Given the description of an element on the screen output the (x, y) to click on. 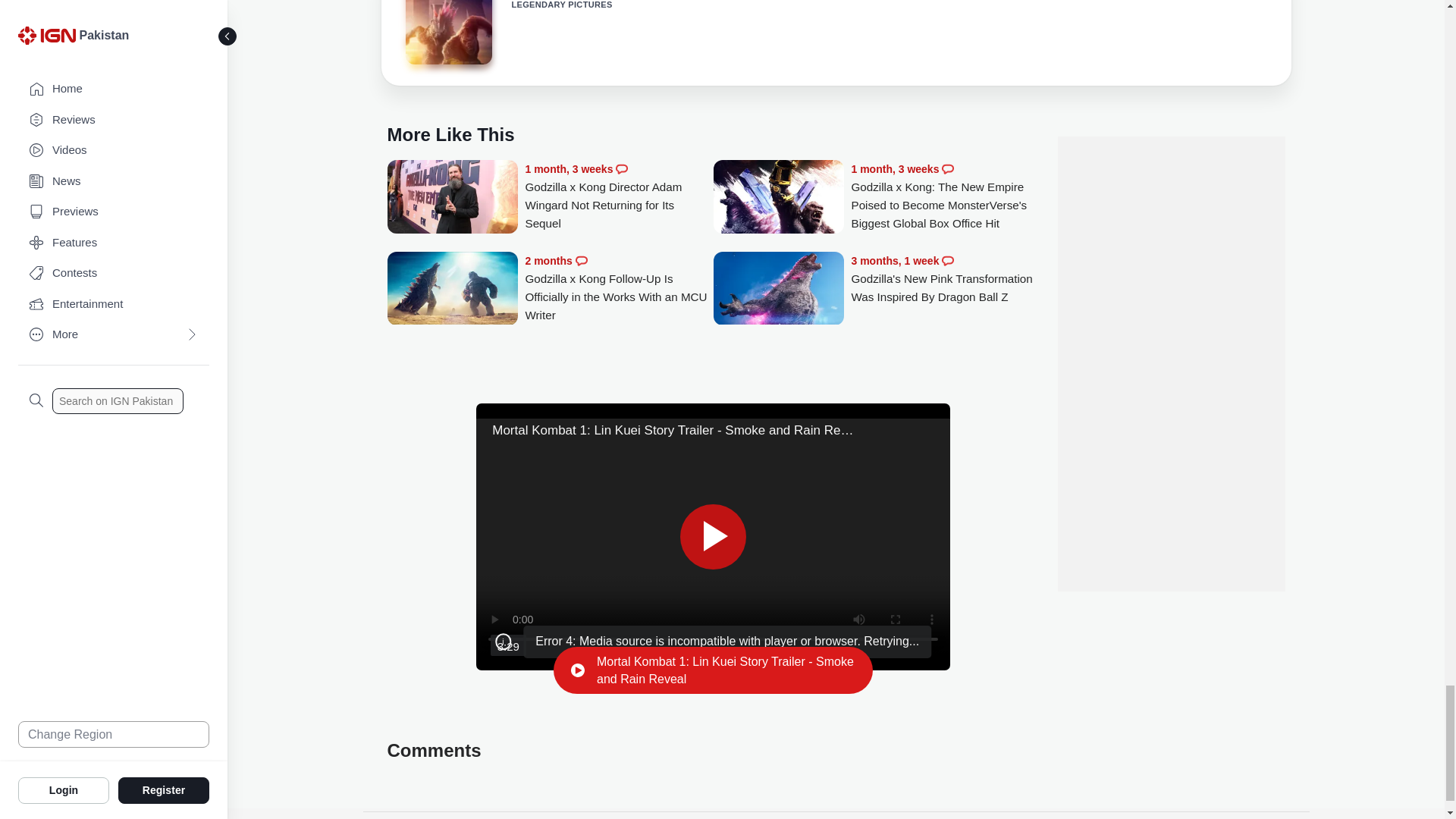
Godzilla x Kong: The New Empire (448, 32)
Comments (947, 168)
Comments (581, 260)
Comments (947, 260)
Godzilla x Kong: The New Empire (448, 34)
Comments (621, 168)
